Given the description of an element on the screen output the (x, y) to click on. 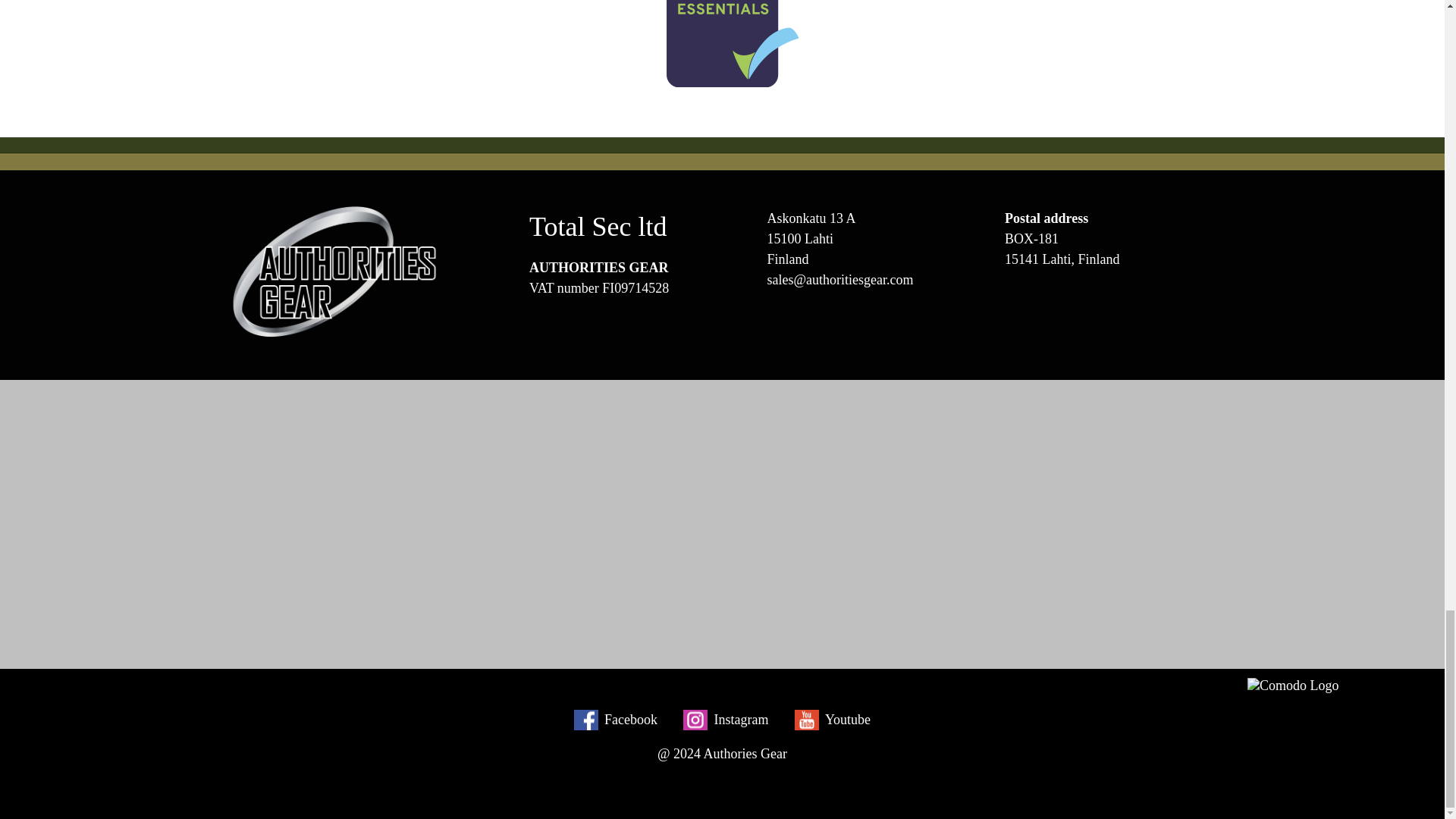
Youtube (832, 720)
Facebook (615, 720)
Instagram (725, 720)
